Given the description of an element on the screen output the (x, y) to click on. 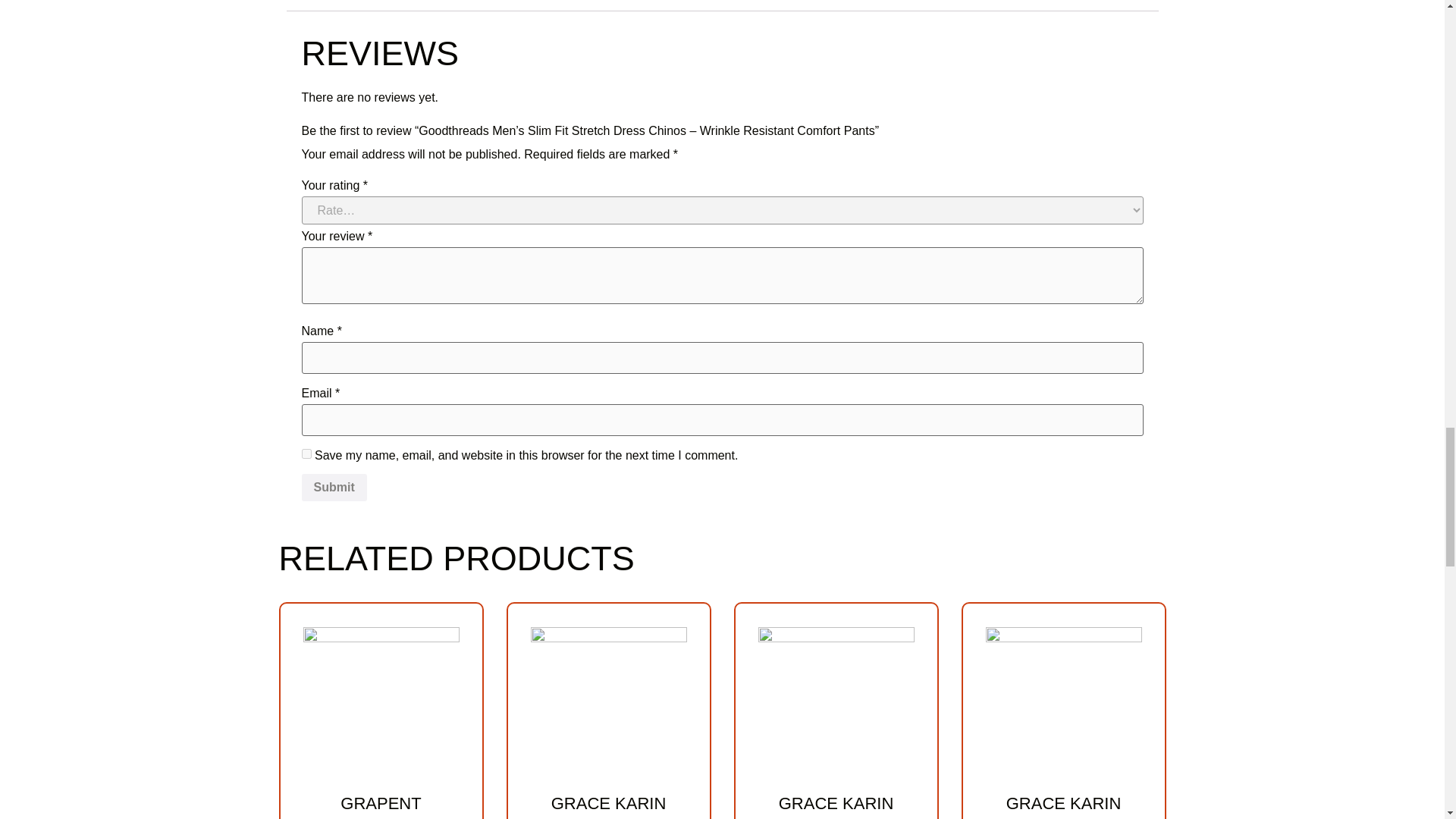
Submit (333, 487)
Submit (333, 487)
yes (306, 453)
